Given the description of an element on the screen output the (x, y) to click on. 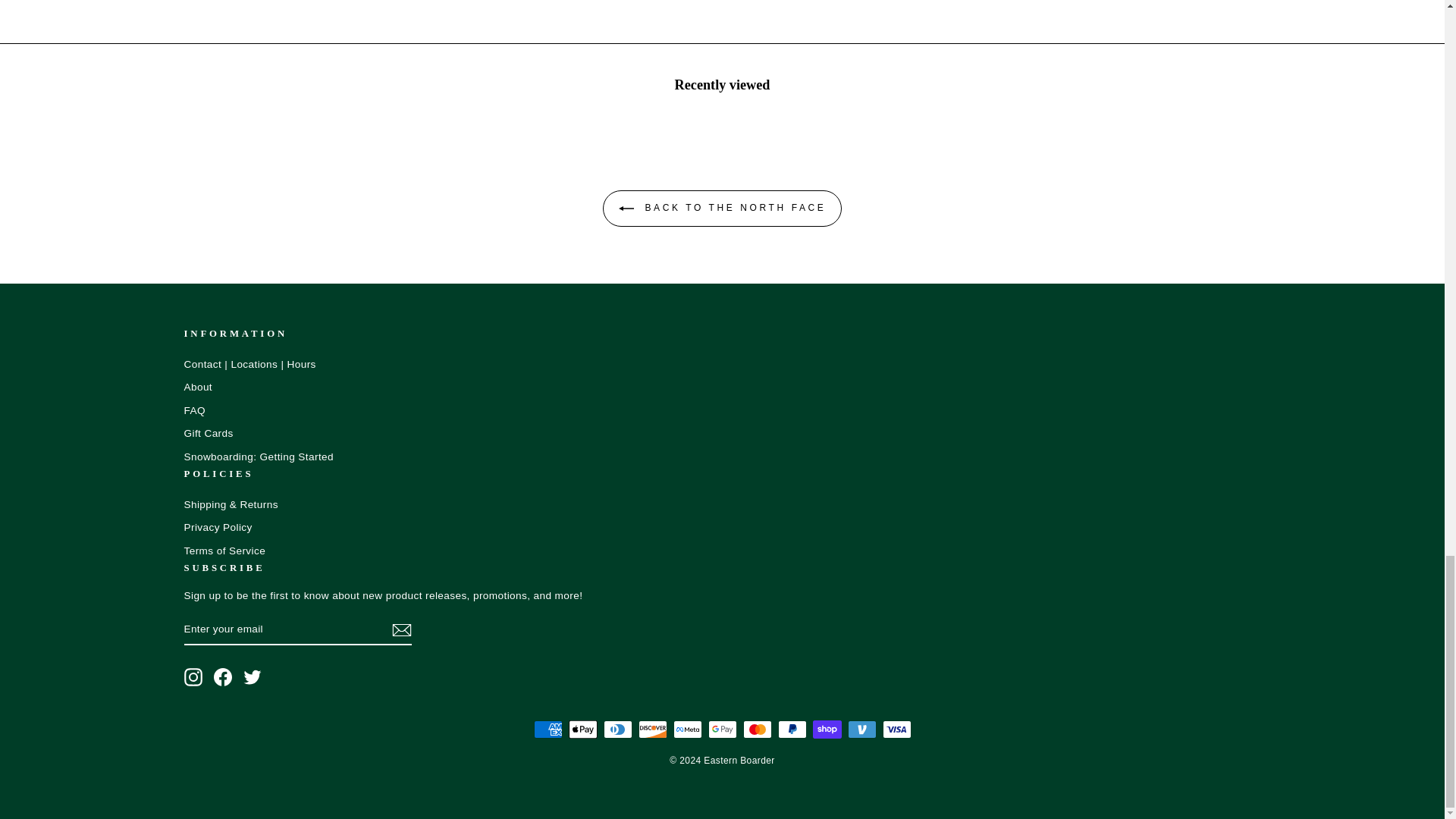
Eastern Boarder on Facebook (222, 677)
Eastern Boarder on Twitter (251, 677)
Eastern Boarder on Instagram (192, 677)
